Given the description of an element on the screen output the (x, y) to click on. 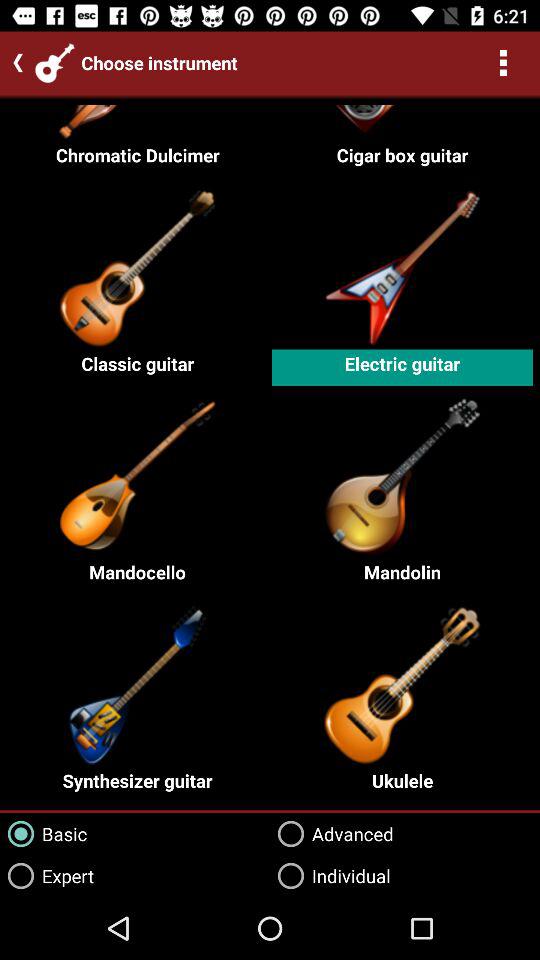
launch the icon next to advanced icon (47, 875)
